Given the description of an element on the screen output the (x, y) to click on. 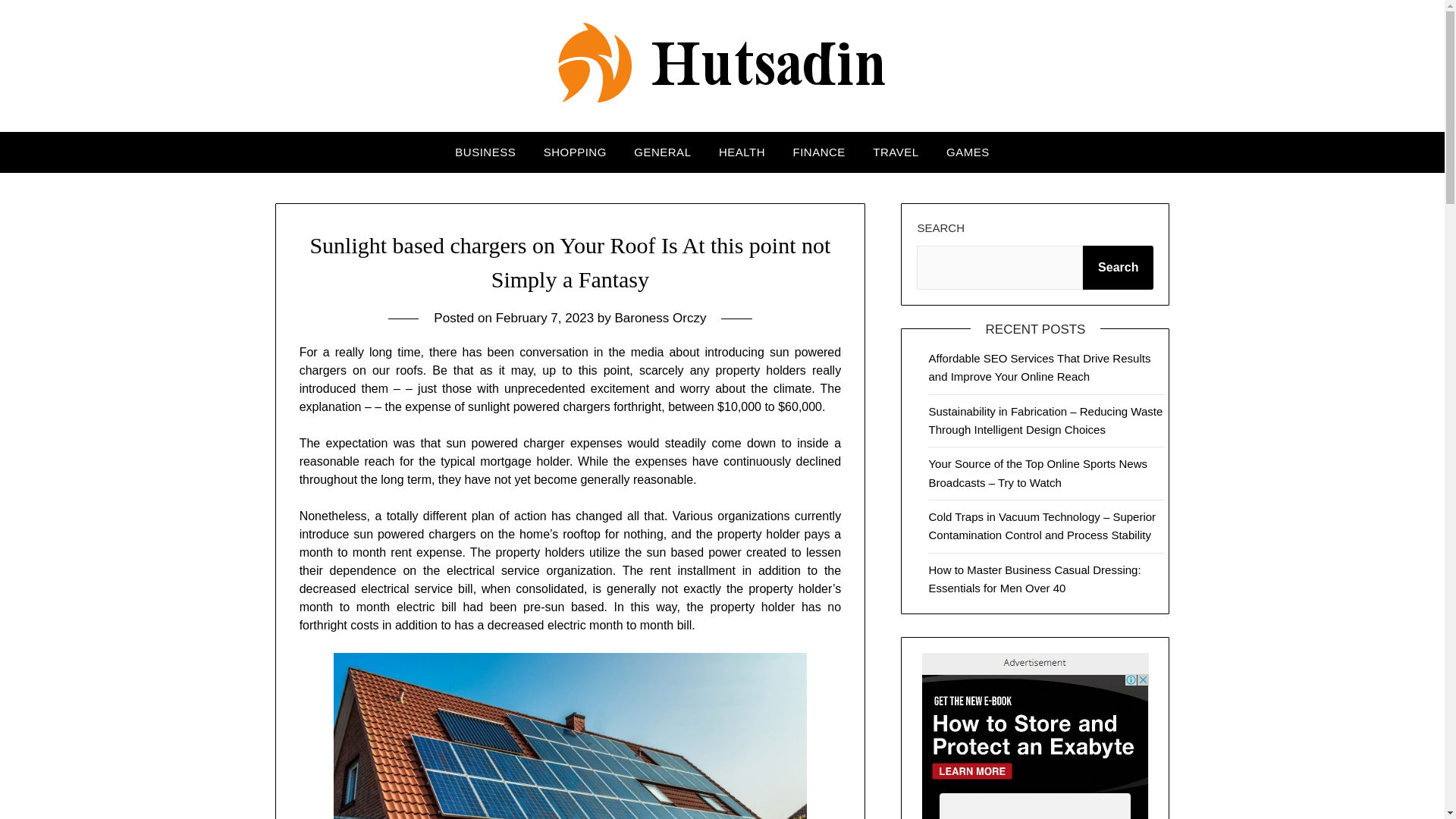
February 7, 2023 (545, 318)
GAMES (967, 151)
HEALTH (741, 151)
Search (1118, 267)
Baroness Orczy (660, 318)
TRAVEL (895, 151)
SHOPPING (574, 151)
FINANCE (818, 151)
